Given the description of an element on the screen output the (x, y) to click on. 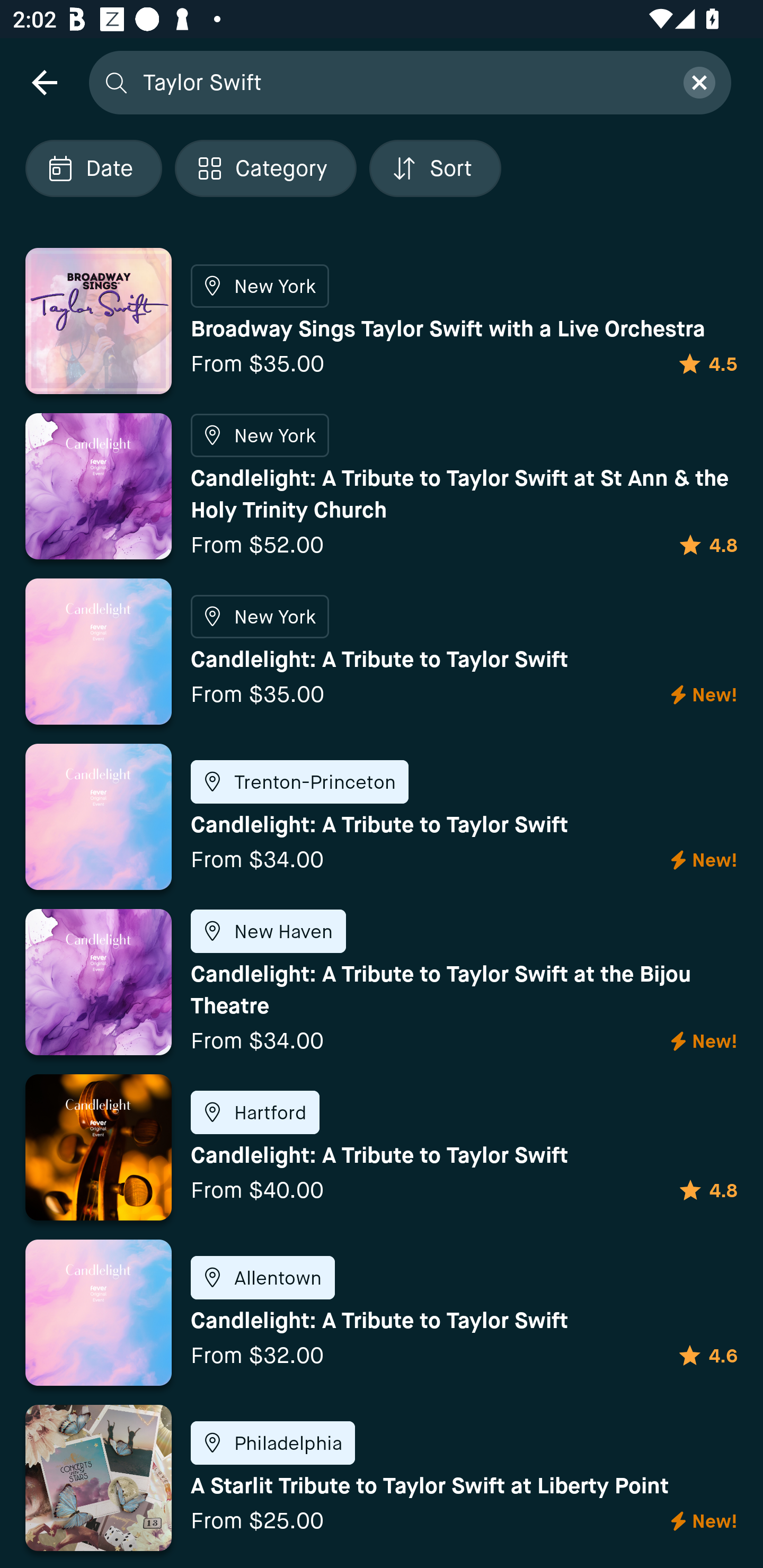
navigation icon (44, 81)
Taylor Swift (402, 81)
Localized description Date (93, 168)
Localized description Category (265, 168)
Localized description Sort (435, 168)
